Given the description of an element on the screen output the (x, y) to click on. 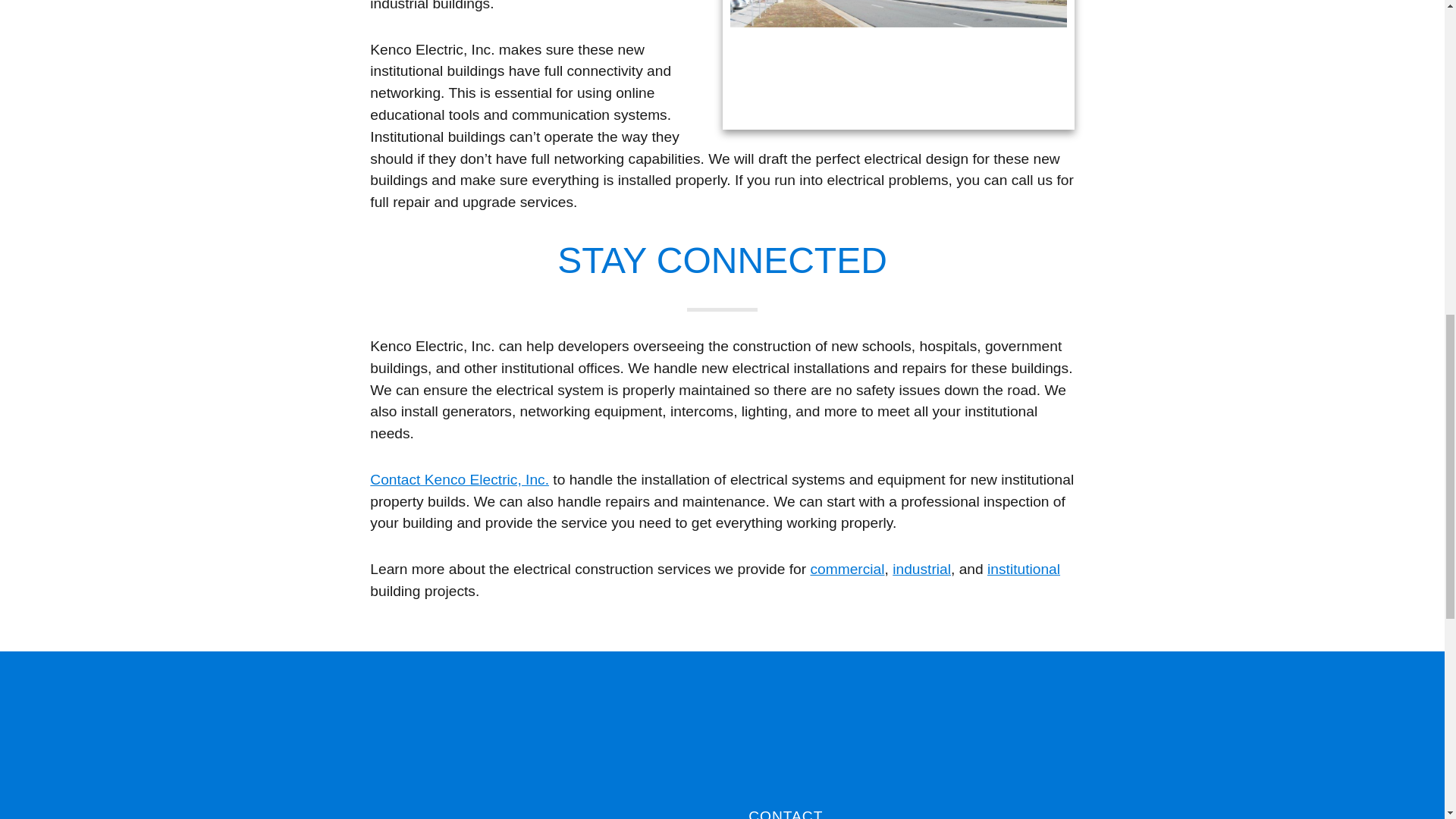
institutional (1023, 569)
commercial (846, 569)
industrial (921, 569)
Contact Kenco Electric, Inc. (458, 479)
